Given the description of an element on the screen output the (x, y) to click on. 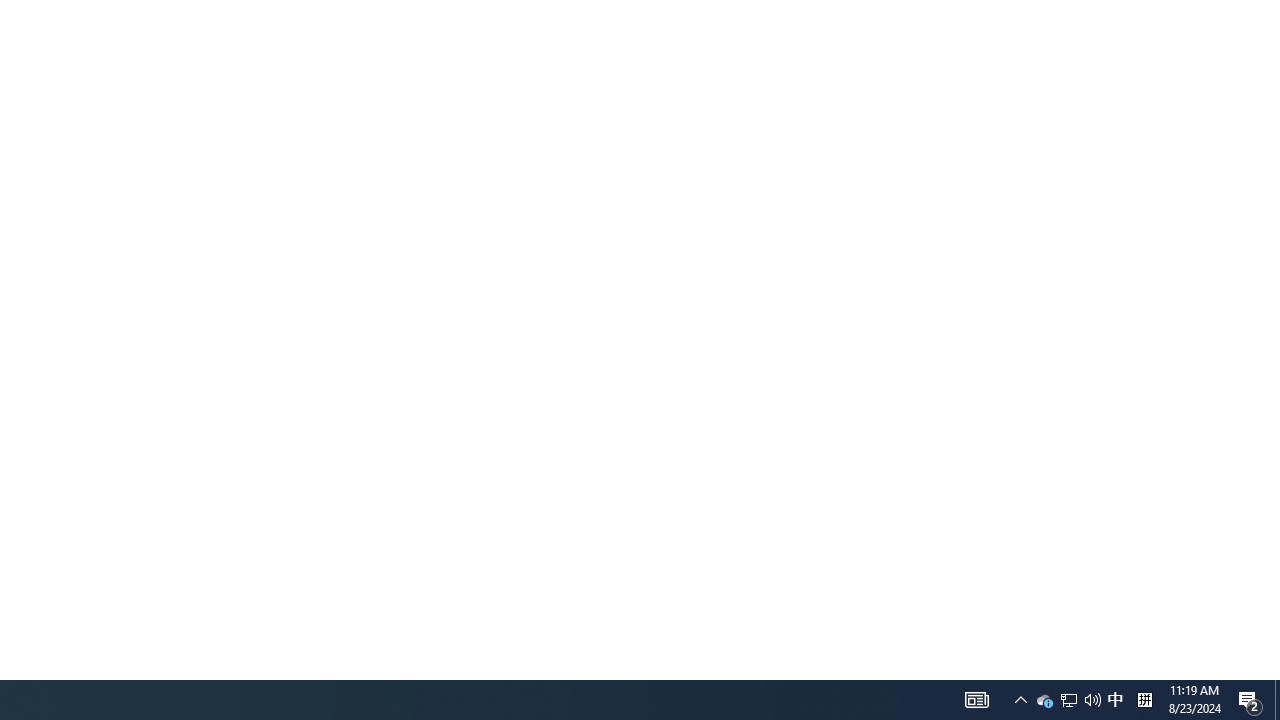
Action Center, 2 new notifications (1250, 699)
AutomationID: 4105 (1044, 699)
Notification Chevron (976, 699)
User Promoted Notification Area (1020, 699)
Q2790: 100% (1068, 699)
Tray Input Indicator - Chinese (Simplified, China) (1092, 699)
Show desktop (1144, 699)
